Given the description of an element on the screen output the (x, y) to click on. 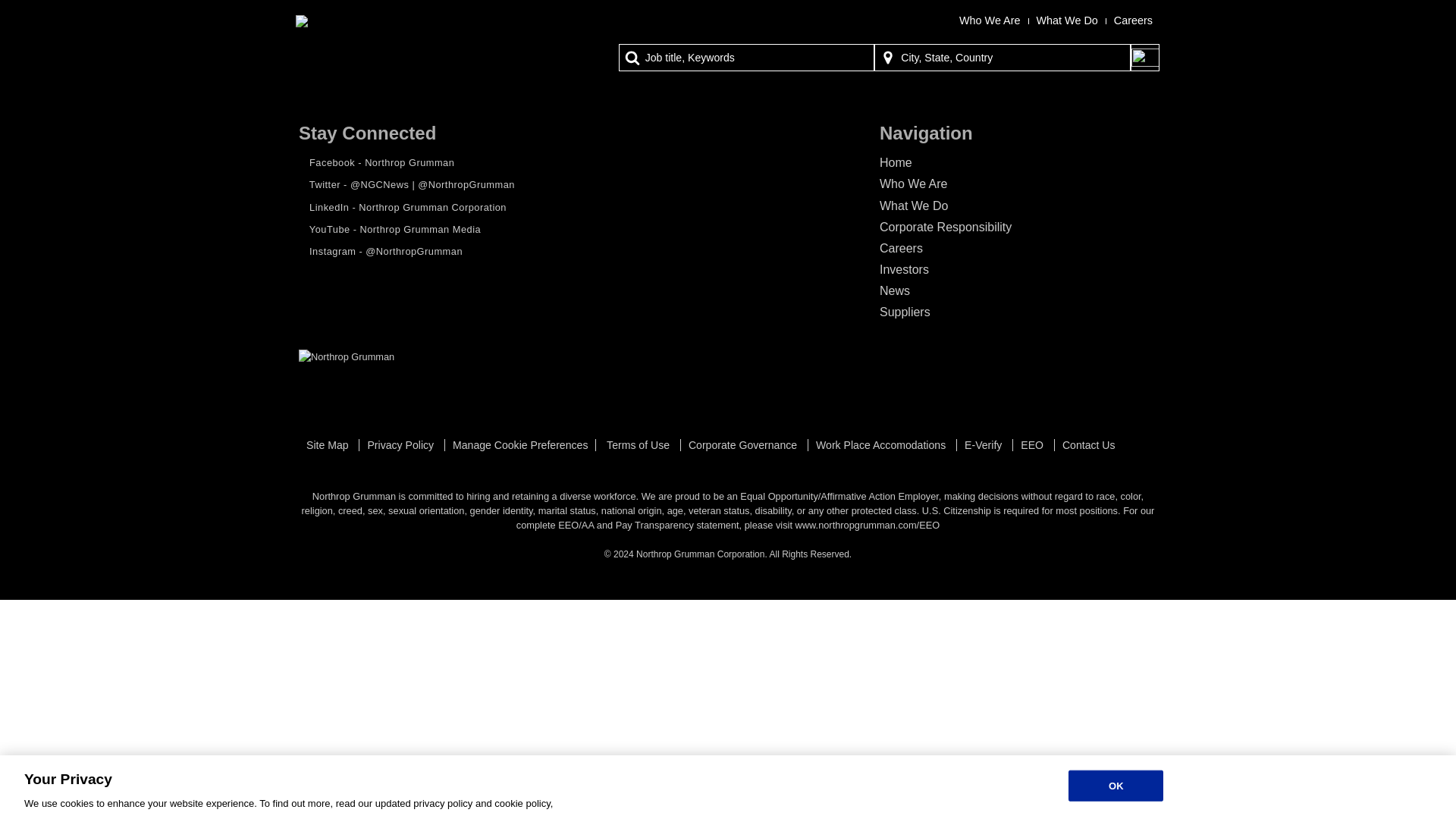
What We Do (913, 205)
Corporate Governance (743, 444)
E-Verify (983, 444)
Facebook - Northrop Grumman (376, 162)
Work Place Accomodations (882, 444)
Site Map (327, 444)
Home (895, 162)
EEO (1033, 444)
Careers (901, 247)
What We Do (1066, 20)
